Given the description of an element on the screen output the (x, y) to click on. 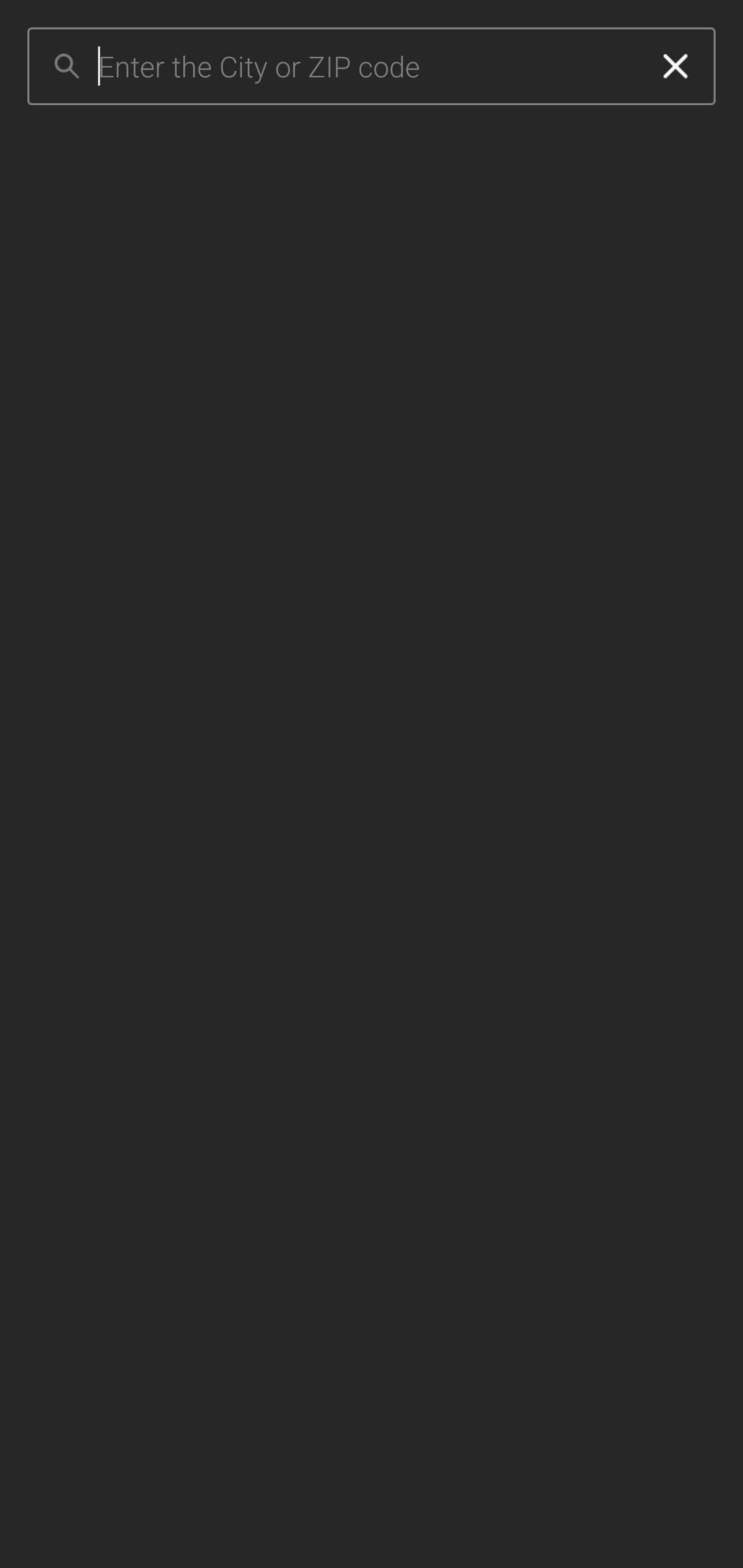
Enter the City or ZIP code (367, 66)
